Given the description of an element on the screen output the (x, y) to click on. 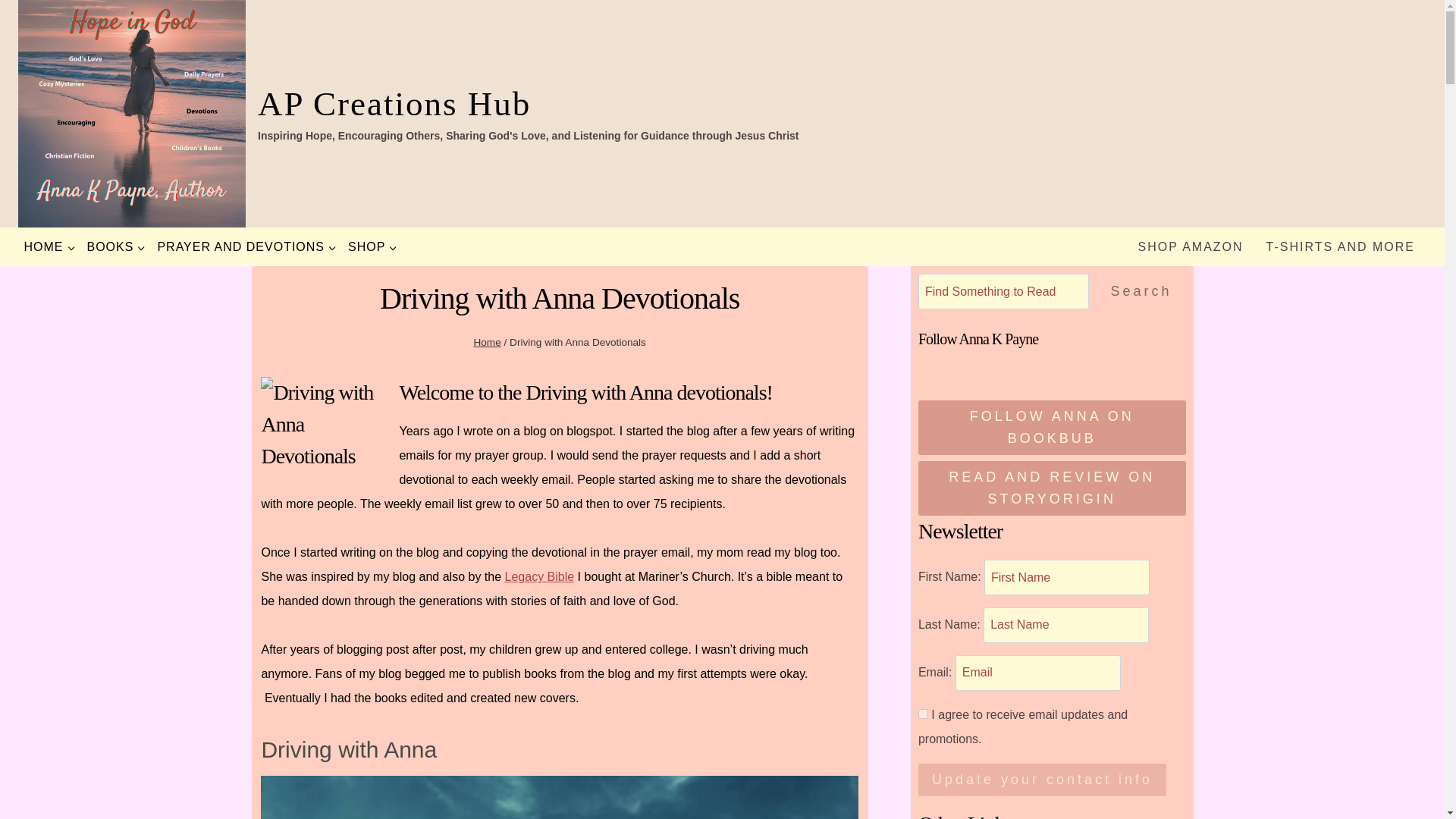
Home (486, 342)
BOOKS (116, 247)
SHOP AMAZON (1190, 246)
1 (923, 714)
T-SHIRTS AND MORE (1340, 246)
Legacy Bible (540, 576)
SHOP (372, 247)
PRAYER AND DEVOTIONS (246, 247)
HOME (49, 247)
